Given the description of an element on the screen output the (x, y) to click on. 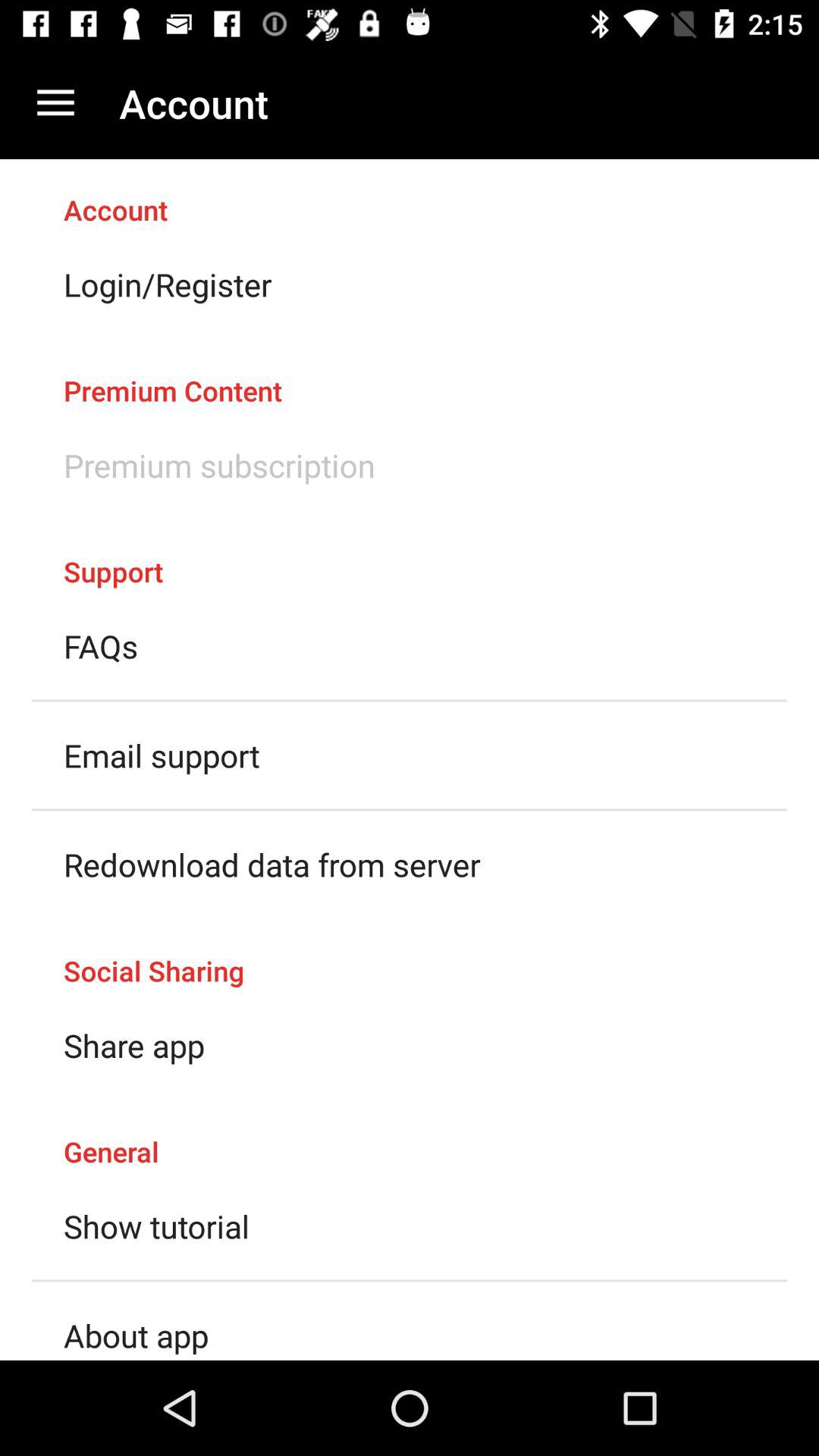
jump to faqs item (100, 645)
